Given the description of an element on the screen output the (x, y) to click on. 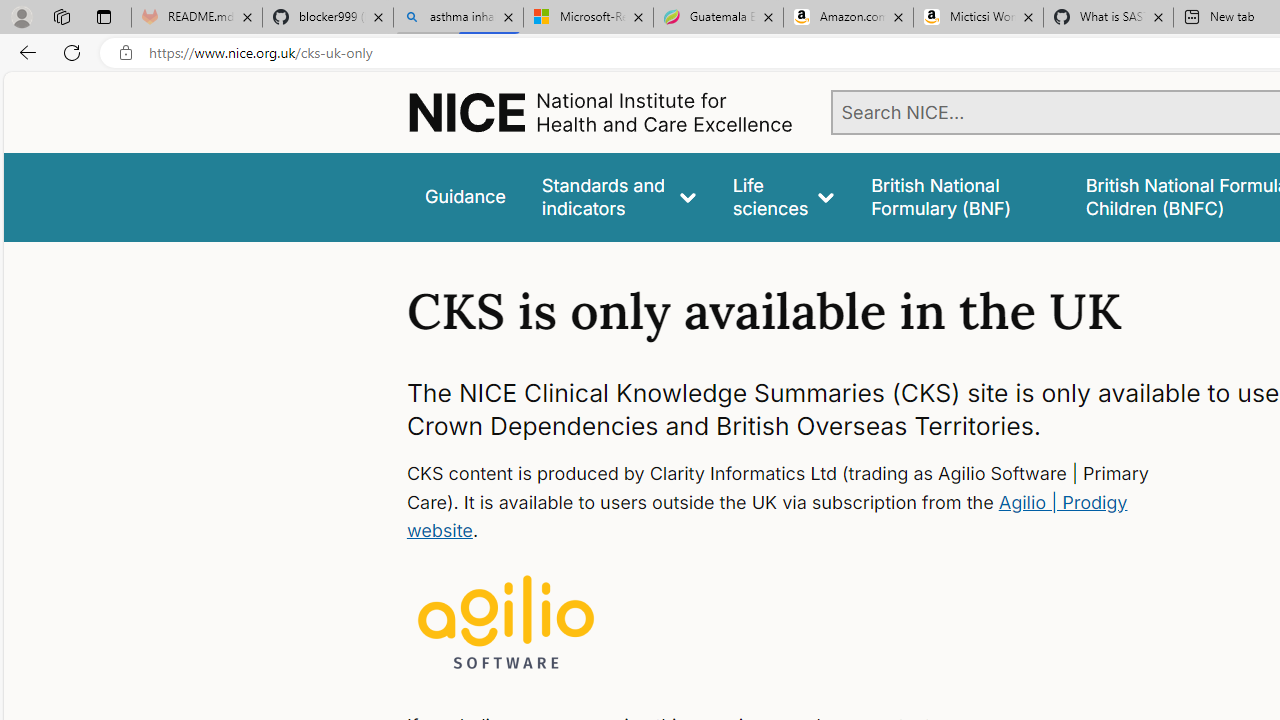
asthma inhaler - Search (458, 17)
false (959, 196)
